Given the description of an element on the screen output the (x, y) to click on. 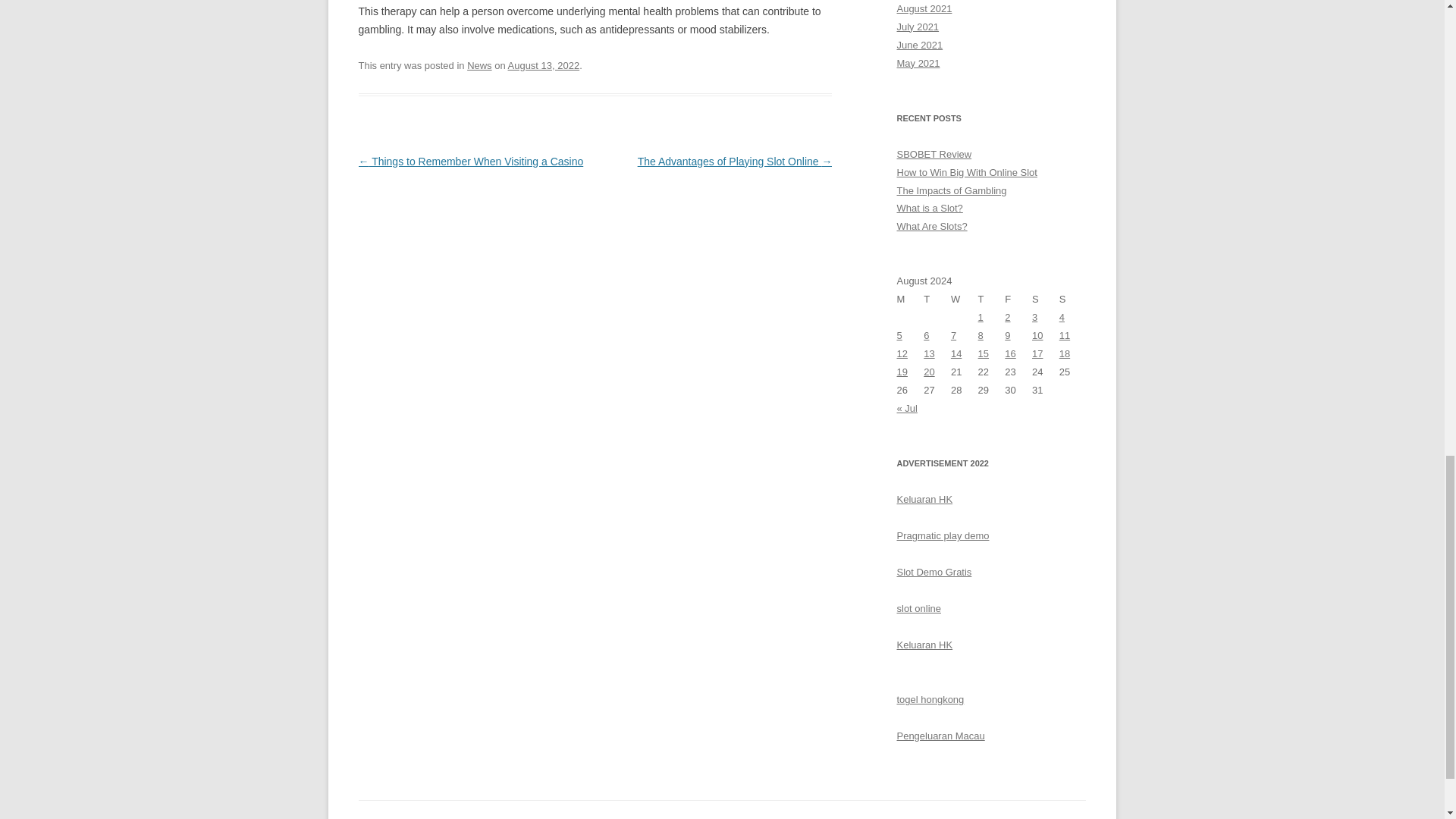
August 13, 2022 (543, 65)
News (479, 65)
Tuesday (936, 299)
Wednesday (964, 299)
Sunday (1072, 299)
Monday (909, 299)
2:00 pm (543, 65)
Friday (1018, 299)
Thursday (992, 299)
Saturday (1045, 299)
